Given the description of an element on the screen output the (x, y) to click on. 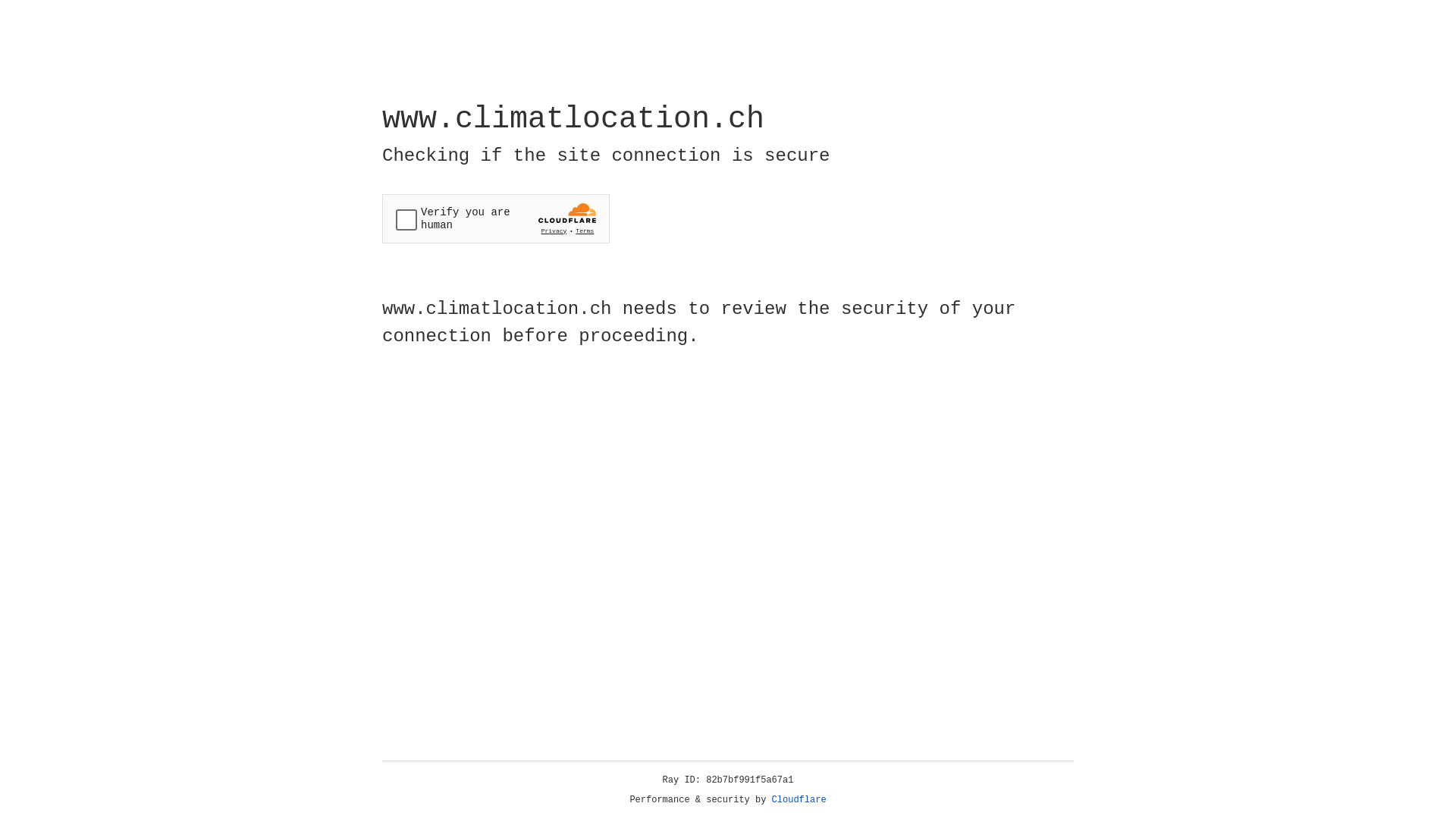
Widget containing a Cloudflare security challenge Element type: hover (495, 218)
Cloudflare Element type: text (798, 799)
